Given the description of an element on the screen output the (x, y) to click on. 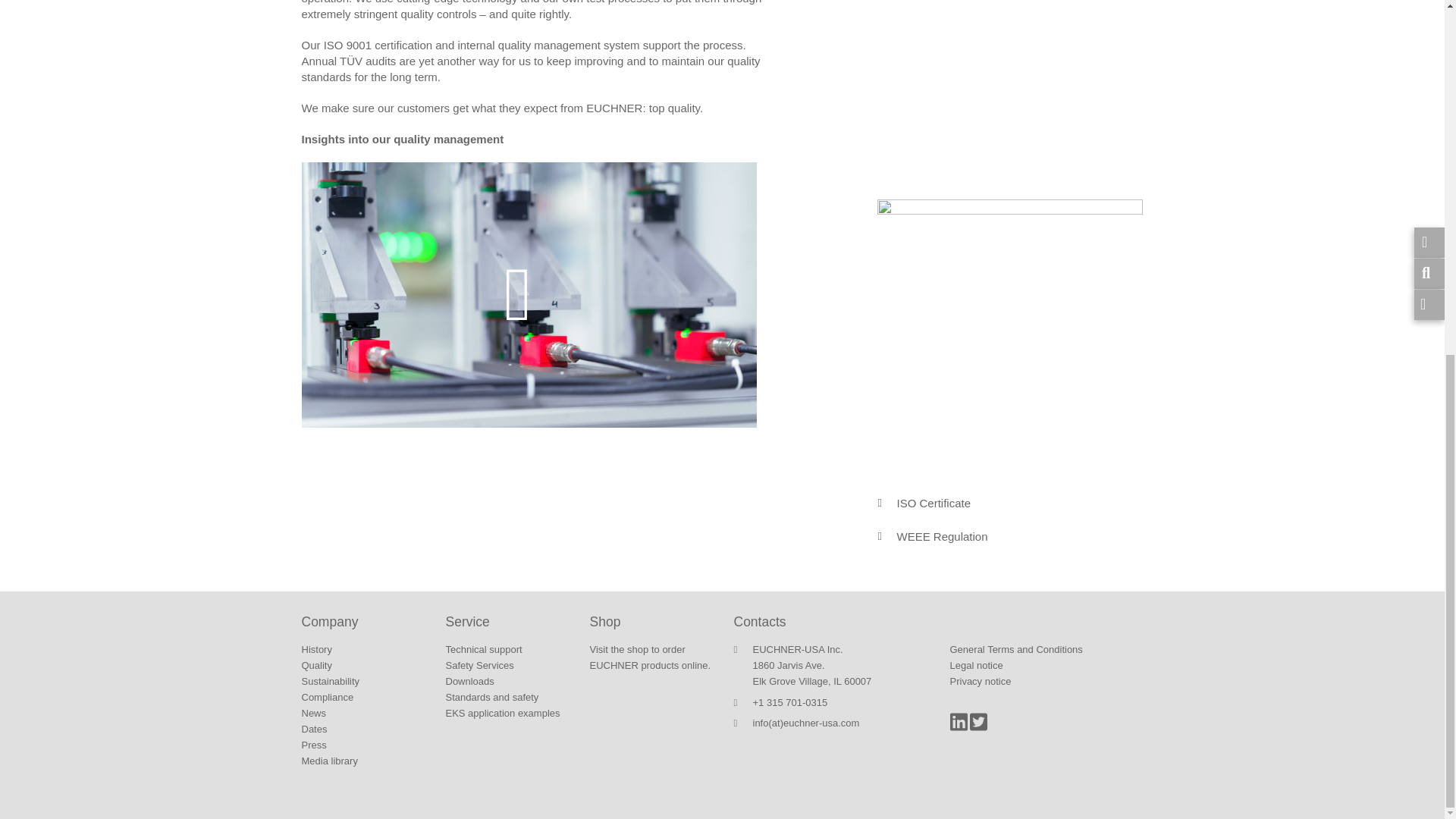
Quality (316, 665)
Compliance (327, 696)
Twitter (978, 727)
LinkedIn (957, 727)
Dates (314, 728)
History (316, 649)
News (313, 713)
ISO Certificate (927, 502)
WEEE Regulation (935, 536)
Sustainability (330, 681)
